Given the description of an element on the screen output the (x, y) to click on. 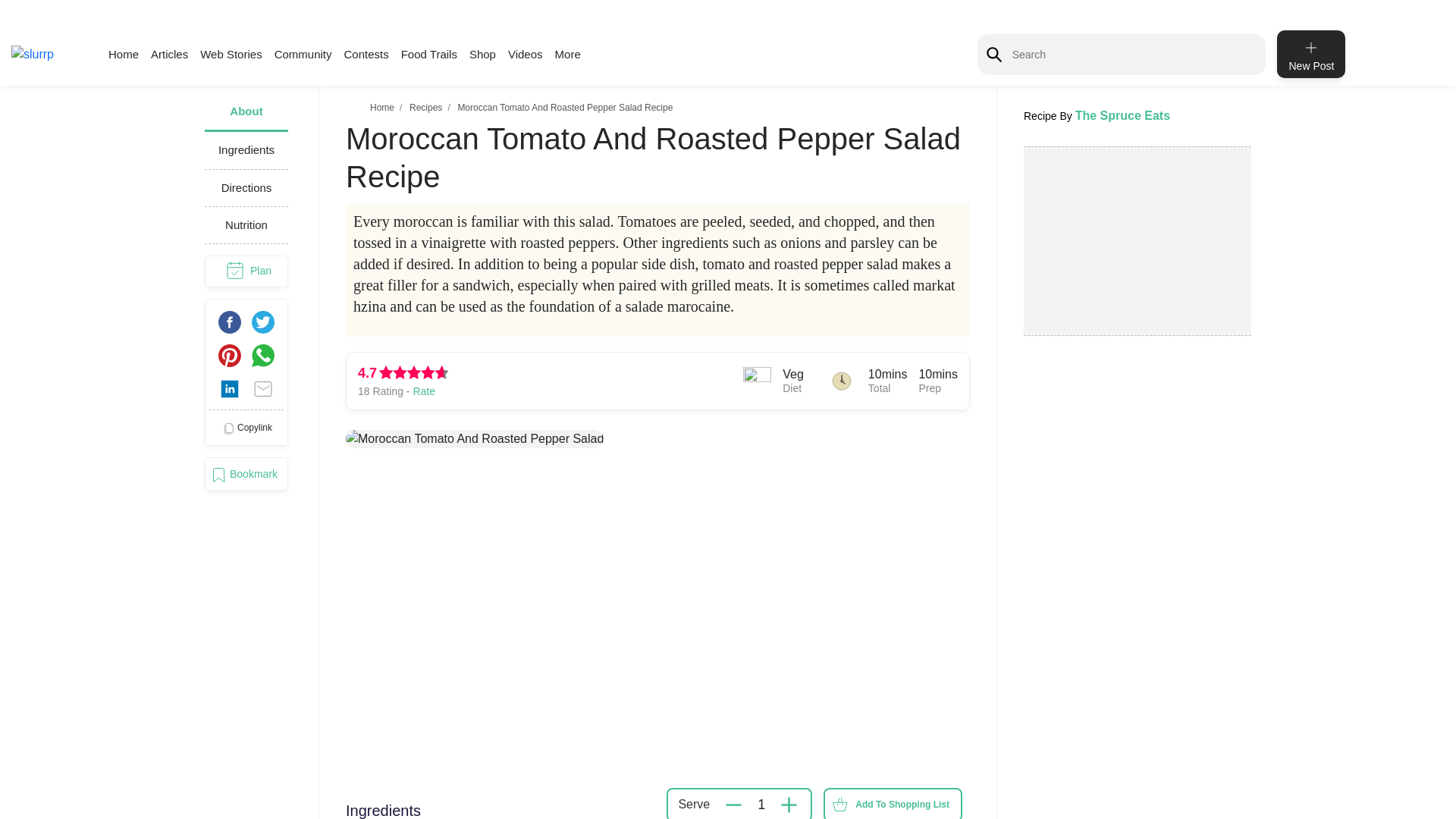
Home (122, 53)
Food Trails (429, 53)
Community (303, 53)
copy link (246, 427)
Web Stories (231, 53)
New Post (1310, 53)
Recipes (425, 107)
Videos (525, 53)
Shop (482, 53)
Copylink (246, 427)
